Given the description of an element on the screen output the (x, y) to click on. 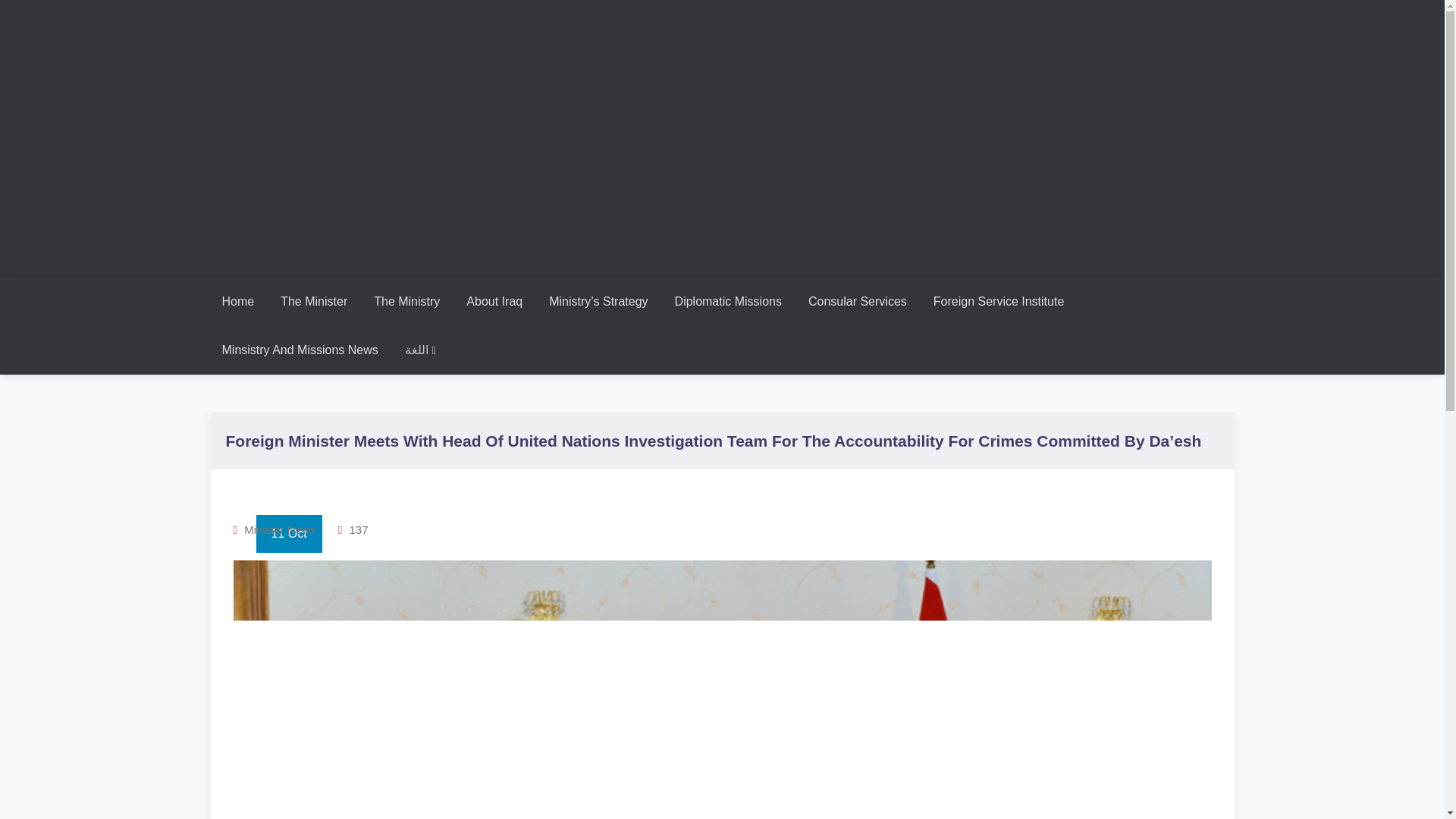
The Ministry (406, 301)
Home (238, 301)
Consular Services (857, 301)
The Minister (313, 301)
About Iraq (494, 301)
Diplomatic Missions (728, 301)
